Given the description of an element on the screen output the (x, y) to click on. 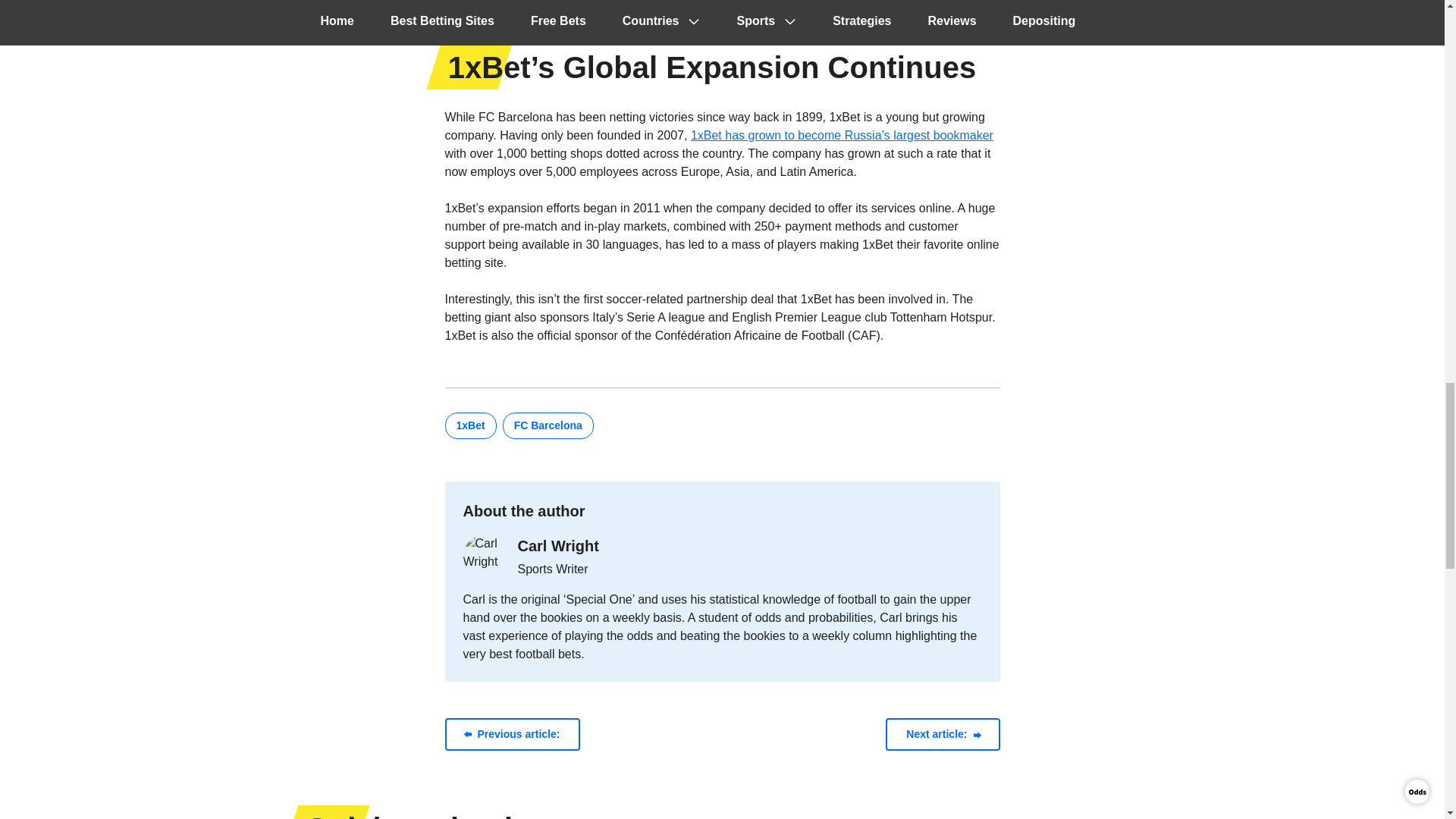
Next article: (941, 734)
Previous article: (511, 734)
